Given the description of an element on the screen output the (x, y) to click on. 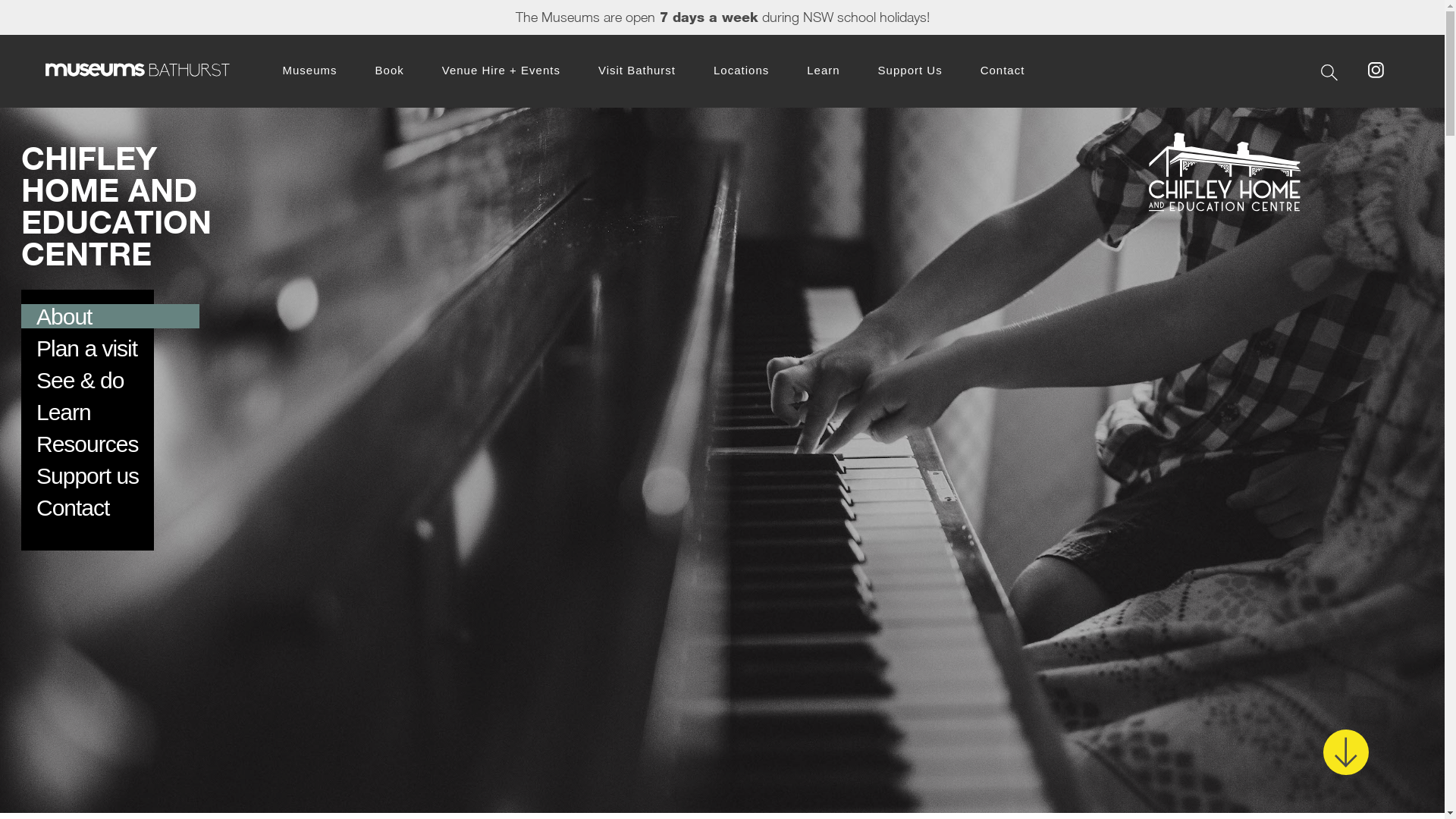
About Element type: text (63, 316)
Resources Element type: text (87, 443)
Support Us Element type: text (910, 69)
See & do Element type: text (79, 379)
Support us Element type: text (87, 475)
Contact Element type: text (72, 507)
Book Element type: text (389, 69)
Plan a visit Element type: text (86, 347)
Learn Element type: text (63, 411)
chifelyhomelogo Element type: hover (1224, 171)
Learn Element type: text (822, 69)
Locations Element type: text (740, 69)
Venue Hire + Events Element type: text (501, 69)
Visit Bathurst Element type: text (636, 69)
Contact Element type: text (1002, 69)
Museums Element type: text (309, 69)
